Given the description of an element on the screen output the (x, y) to click on. 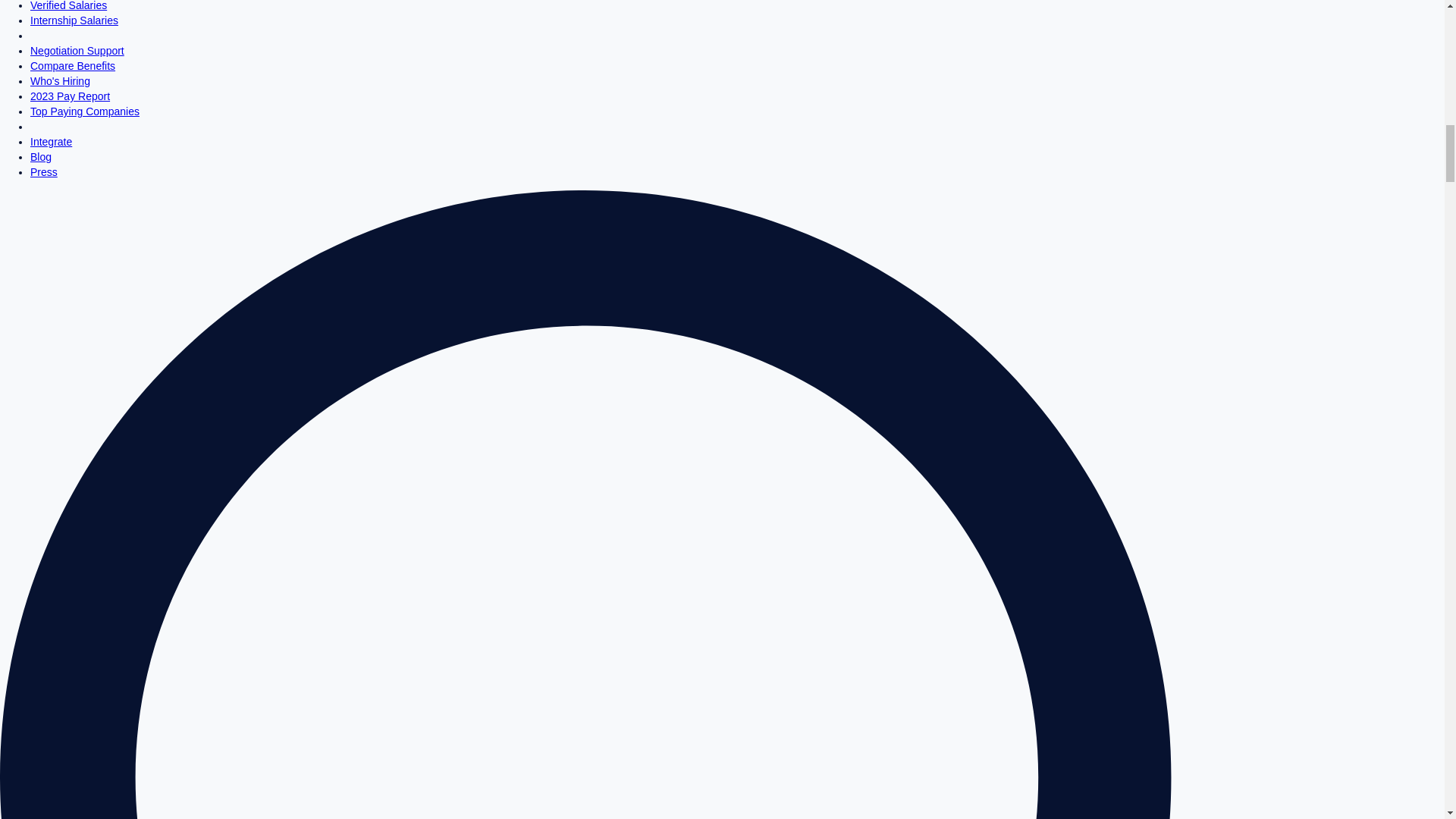
Who's Hiring (60, 80)
Negotiation Support (76, 50)
2023 Pay Report (70, 96)
Top Paying Companies (84, 111)
Integrate (50, 141)
Internship Salaries (73, 20)
Compare Benefits (72, 65)
Verified Salaries (68, 5)
Press (44, 172)
Blog (40, 156)
